Given the description of an element on the screen output the (x, y) to click on. 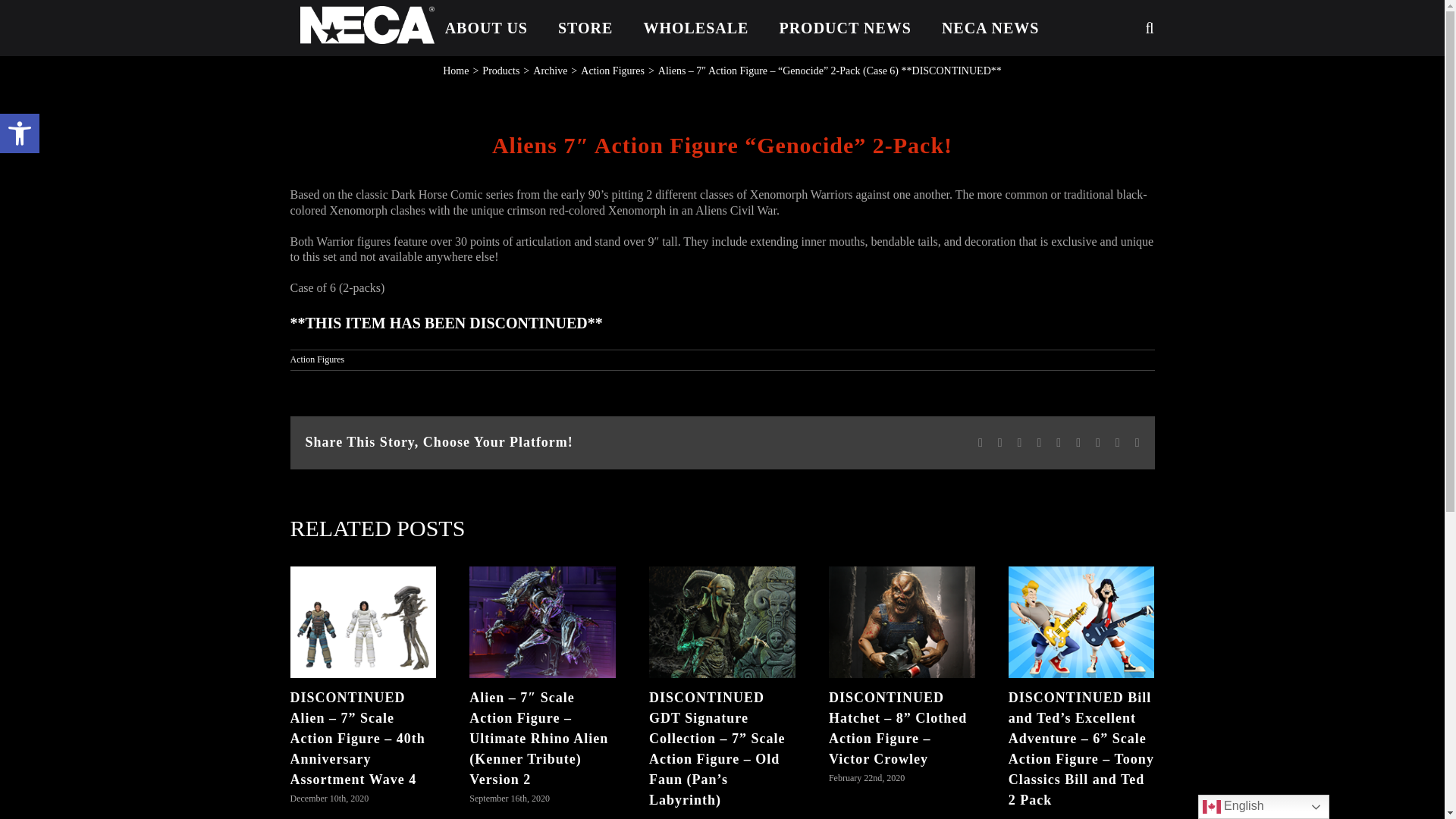
STORE (584, 28)
Open toolbar (19, 133)
Search (1111, 28)
NECAOnline.com (366, 24)
ABOUT US (486, 28)
NECA NEWS (990, 28)
WHOLESALE (695, 28)
PRODUCT NEWS (844, 28)
